Given the description of an element on the screen output the (x, y) to click on. 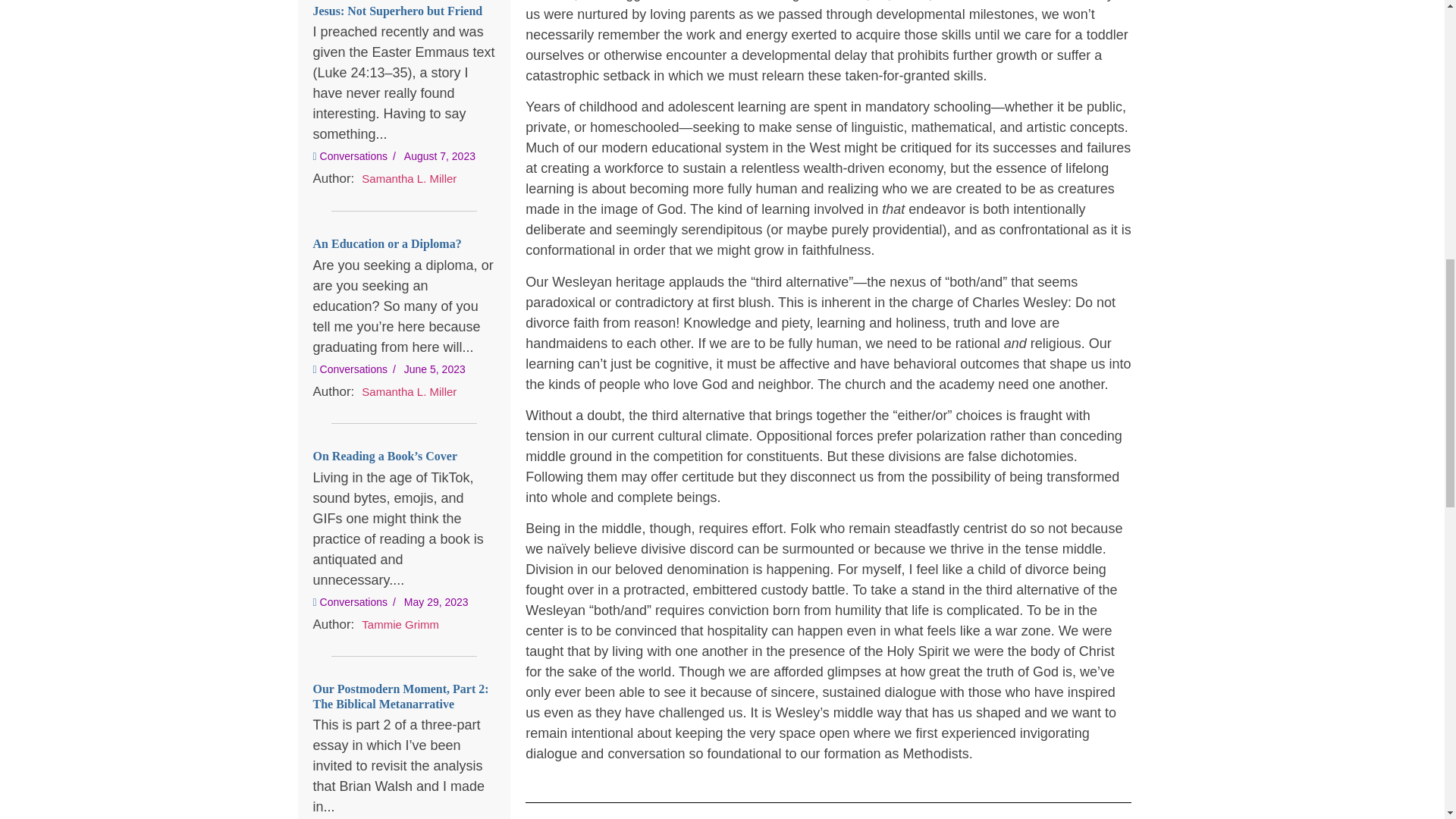
11:00 AM (434, 369)
11:00 AM (436, 602)
11:00 AM (434, 369)
11:00 AM (436, 602)
11:00 AM (440, 156)
11:00 AM (440, 155)
